Given the description of an element on the screen output the (x, y) to click on. 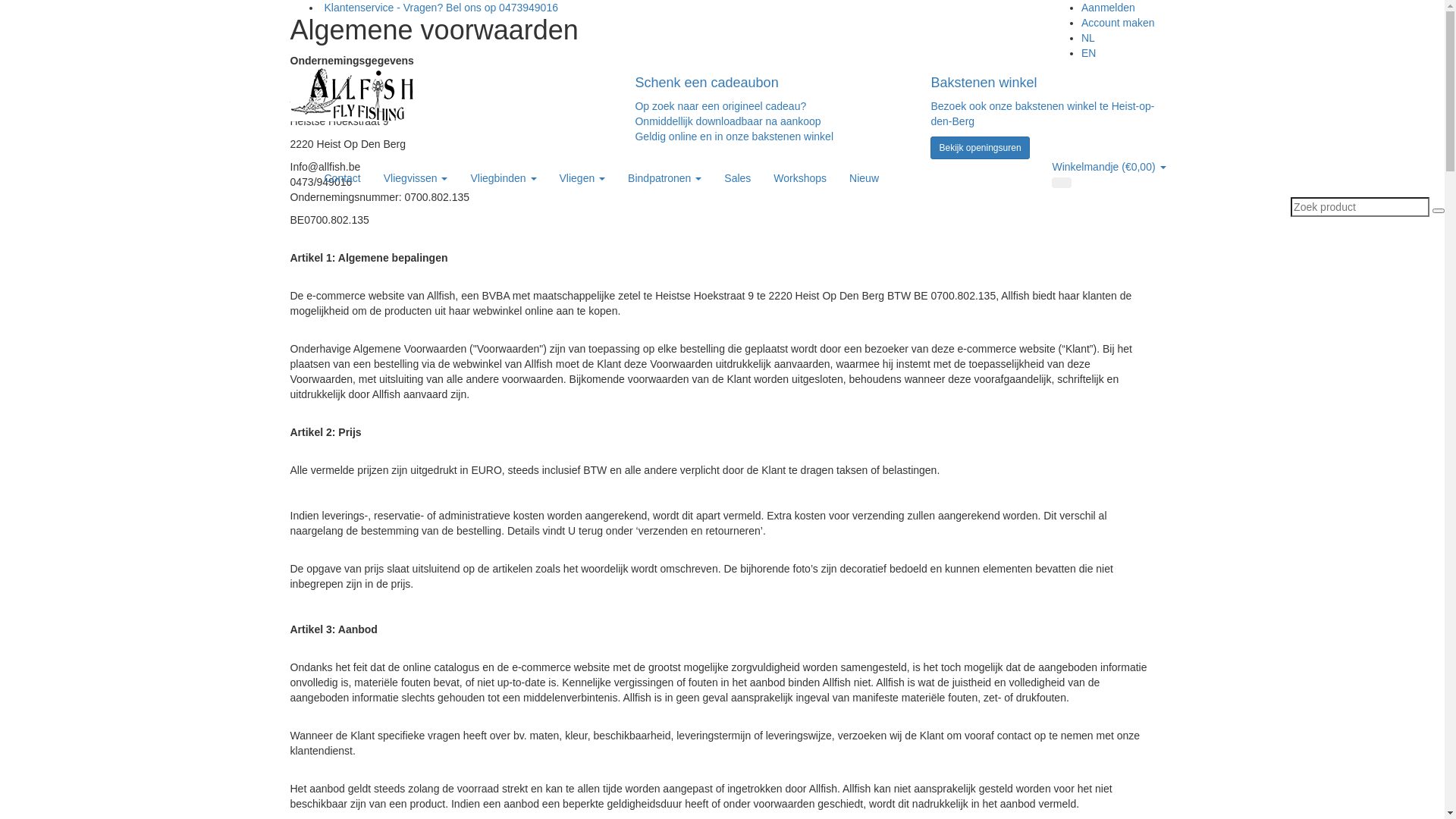
Aanmelden Element type: text (1108, 7)
Account maken Element type: text (1117, 22)
Sales Element type: text (737, 178)
EN Element type: text (1088, 53)
Bekijk openingsuren Element type: text (979, 147)
Nieuw Element type: text (863, 178)
Vliegvissen Element type: text (415, 178)
Bindpatronen Element type: text (664, 178)
Contact Element type: text (341, 178)
NL Element type: text (1088, 37)
Klantenservice - Vragen? Bel ons op 0473949016 Element type: text (438, 7)
Vliegbinden Element type: text (502, 178)
Vliegen Element type: text (582, 178)
Workshops Element type: text (799, 178)
